Given the description of an element on the screen output the (x, y) to click on. 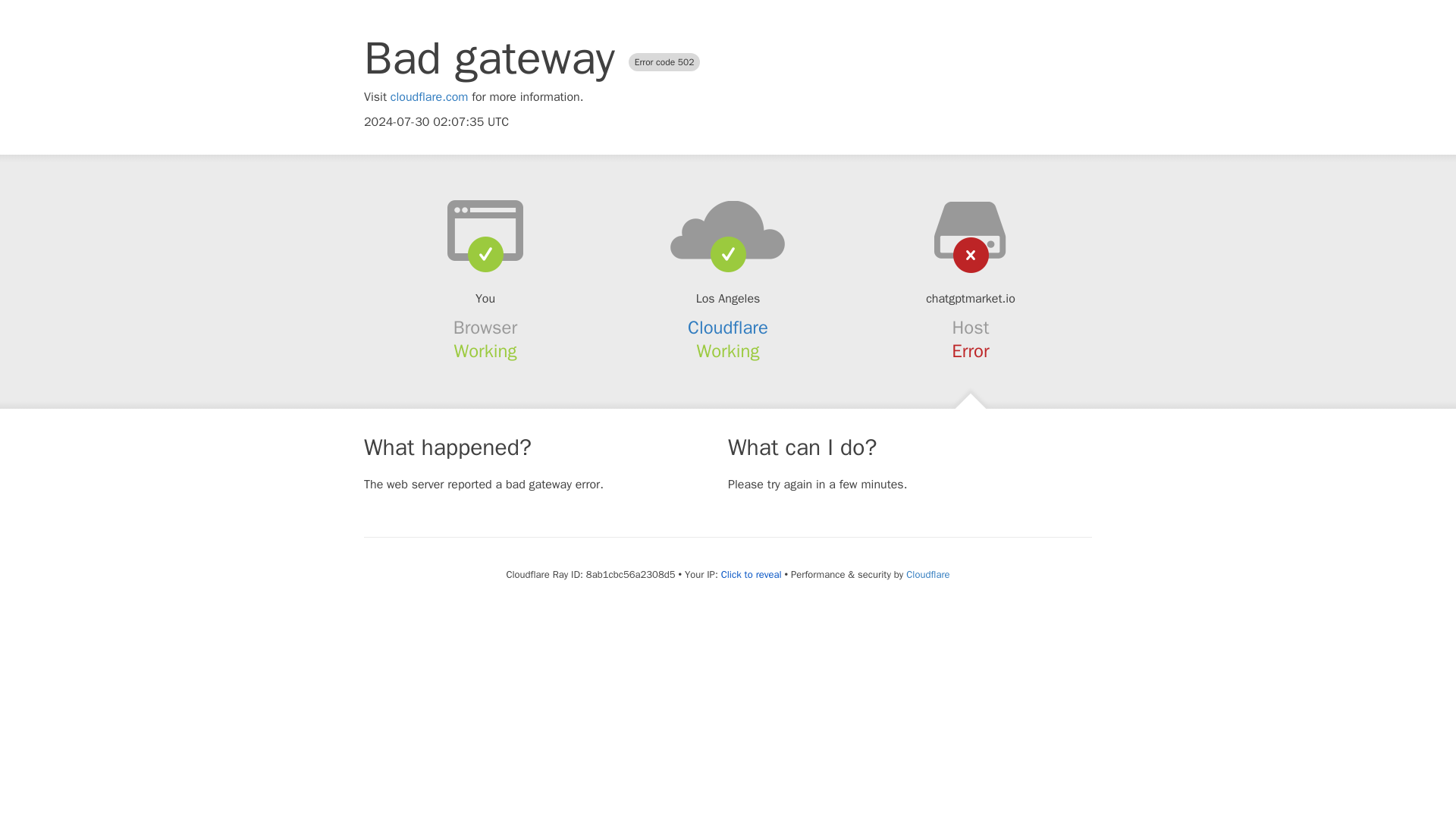
Cloudflare (927, 574)
Click to reveal (750, 574)
cloudflare.com (429, 96)
Cloudflare (727, 327)
